Given the description of an element on the screen output the (x, y) to click on. 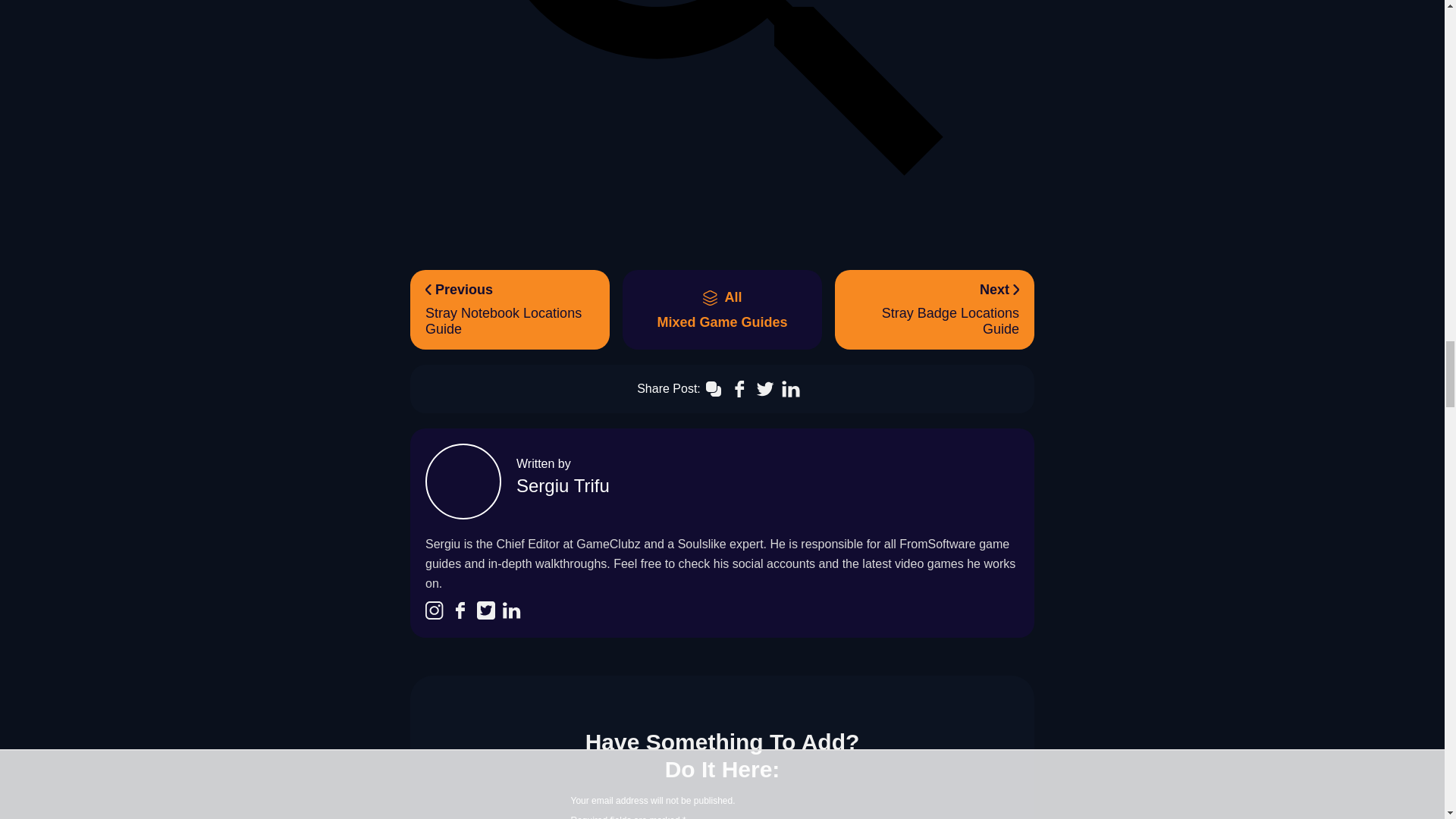
instagram (434, 611)
facebook (510, 309)
Sergiu Trifu (459, 611)
linkedin (563, 485)
twitter (722, 309)
